Given the description of an element on the screen output the (x, y) to click on. 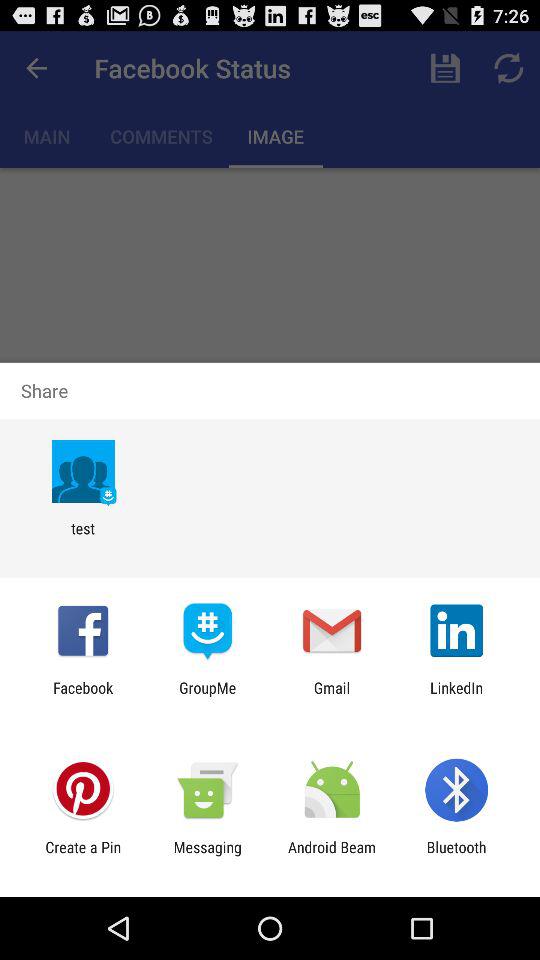
launch item next to the create a pin item (207, 856)
